Given the description of an element on the screen output the (x, y) to click on. 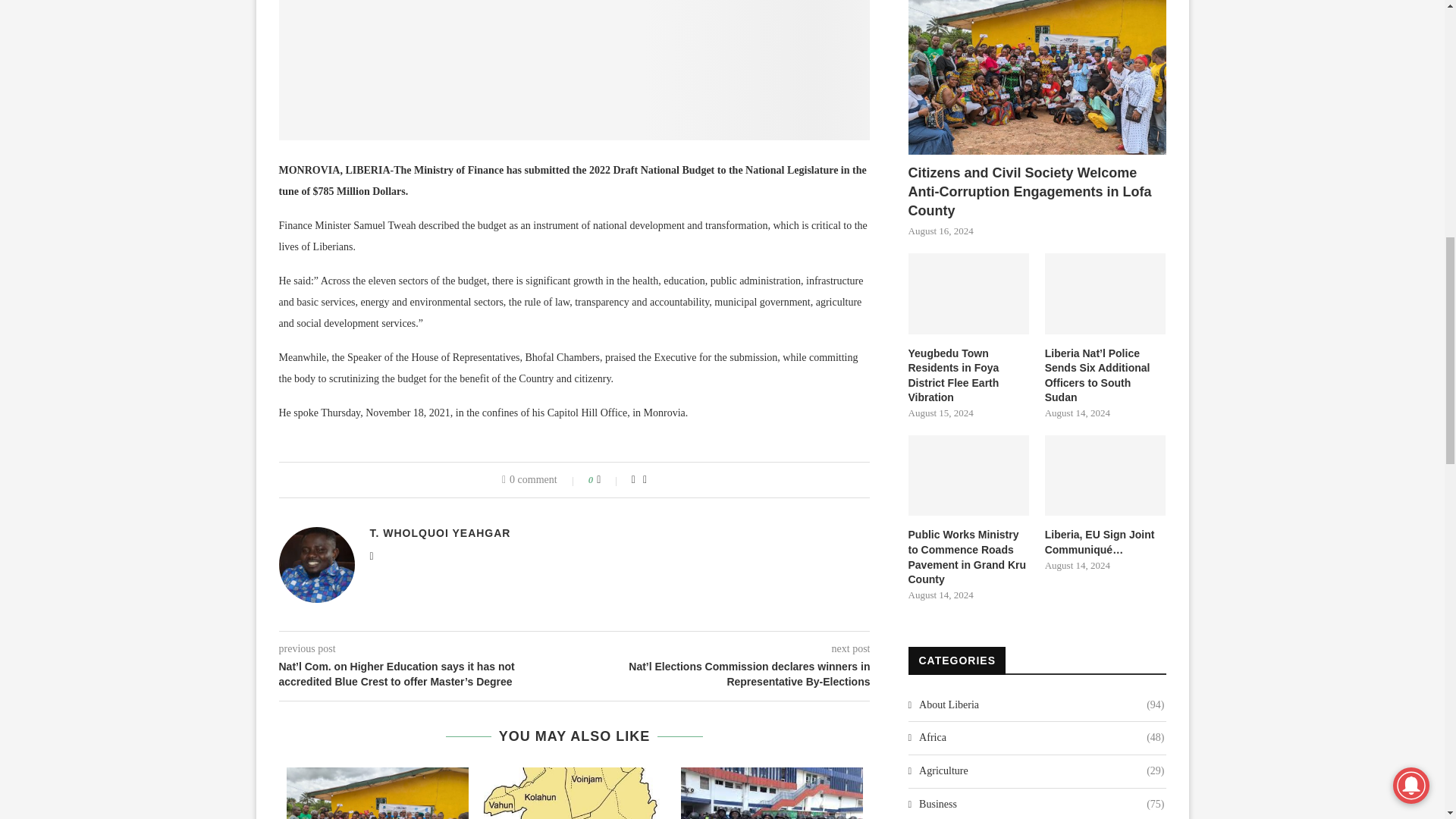
Like (608, 480)
Author T. Wholquoi Yeahgar (440, 532)
Edu Style 1 Demo 5 (574, 70)
